Given the description of an element on the screen output the (x, y) to click on. 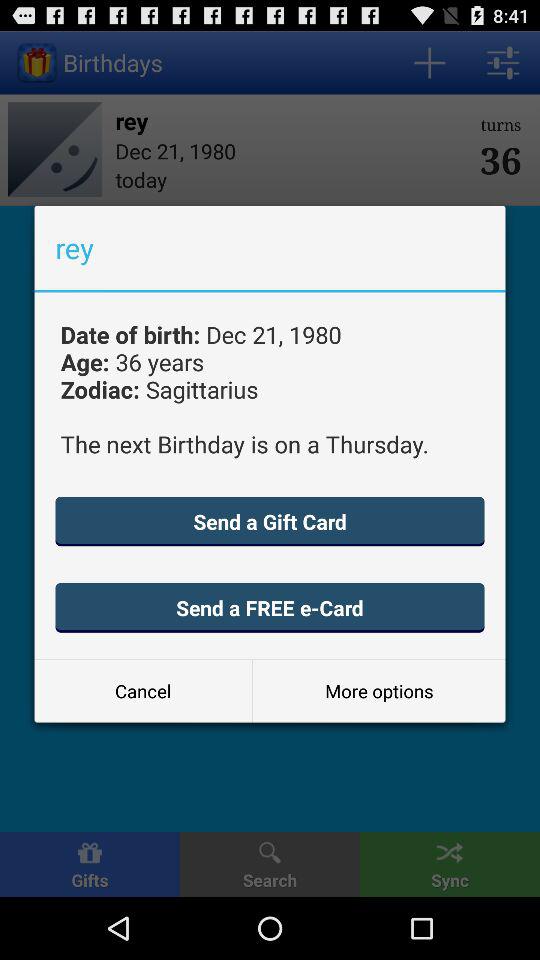
open the button next to cancel (378, 690)
